Given the description of an element on the screen output the (x, y) to click on. 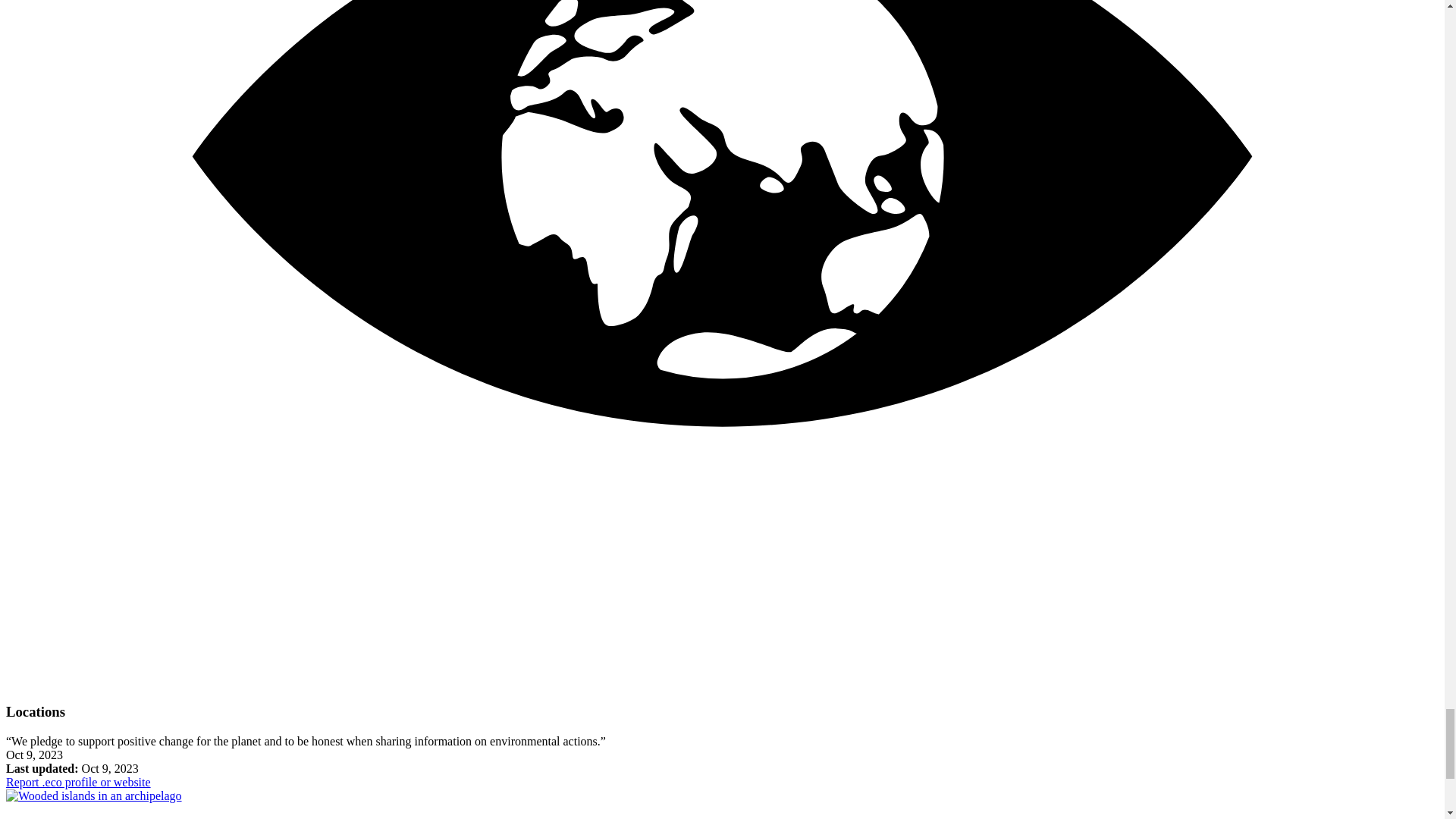
Report .eco profile or website (78, 781)
